Given the description of an element on the screen output the (x, y) to click on. 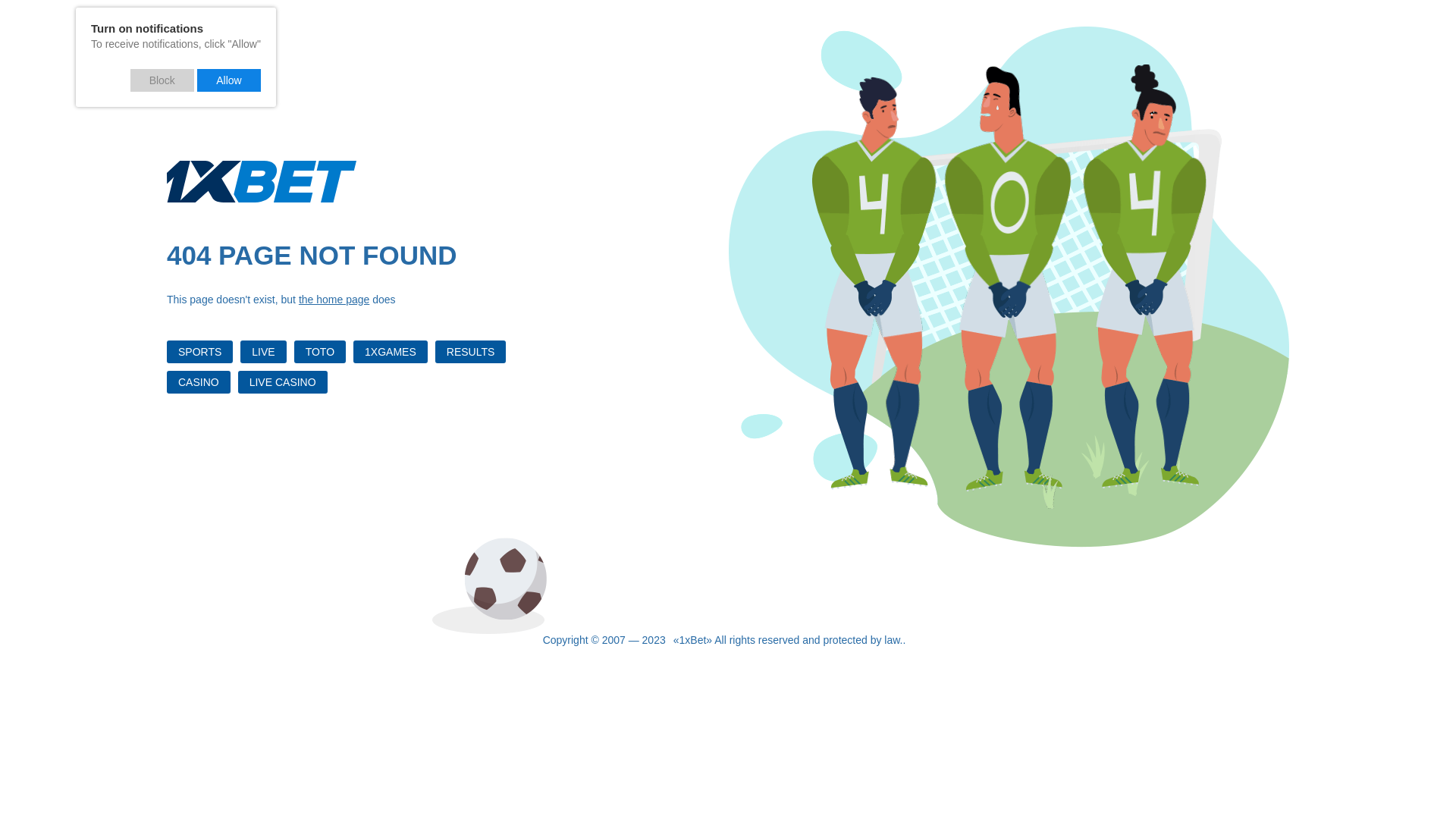
SPORTS Element type: text (199, 351)
Block Element type: text (162, 80)
1XGAMES Element type: text (390, 351)
CASINO Element type: text (198, 381)
Allow Element type: text (228, 80)
TOTO Element type: text (319, 351)
LIVE Element type: text (262, 351)
RESULTS Element type: text (470, 351)
the home page Element type: text (333, 299)
LIVE CASINO Element type: text (282, 381)
